Given the description of an element on the screen output the (x, y) to click on. 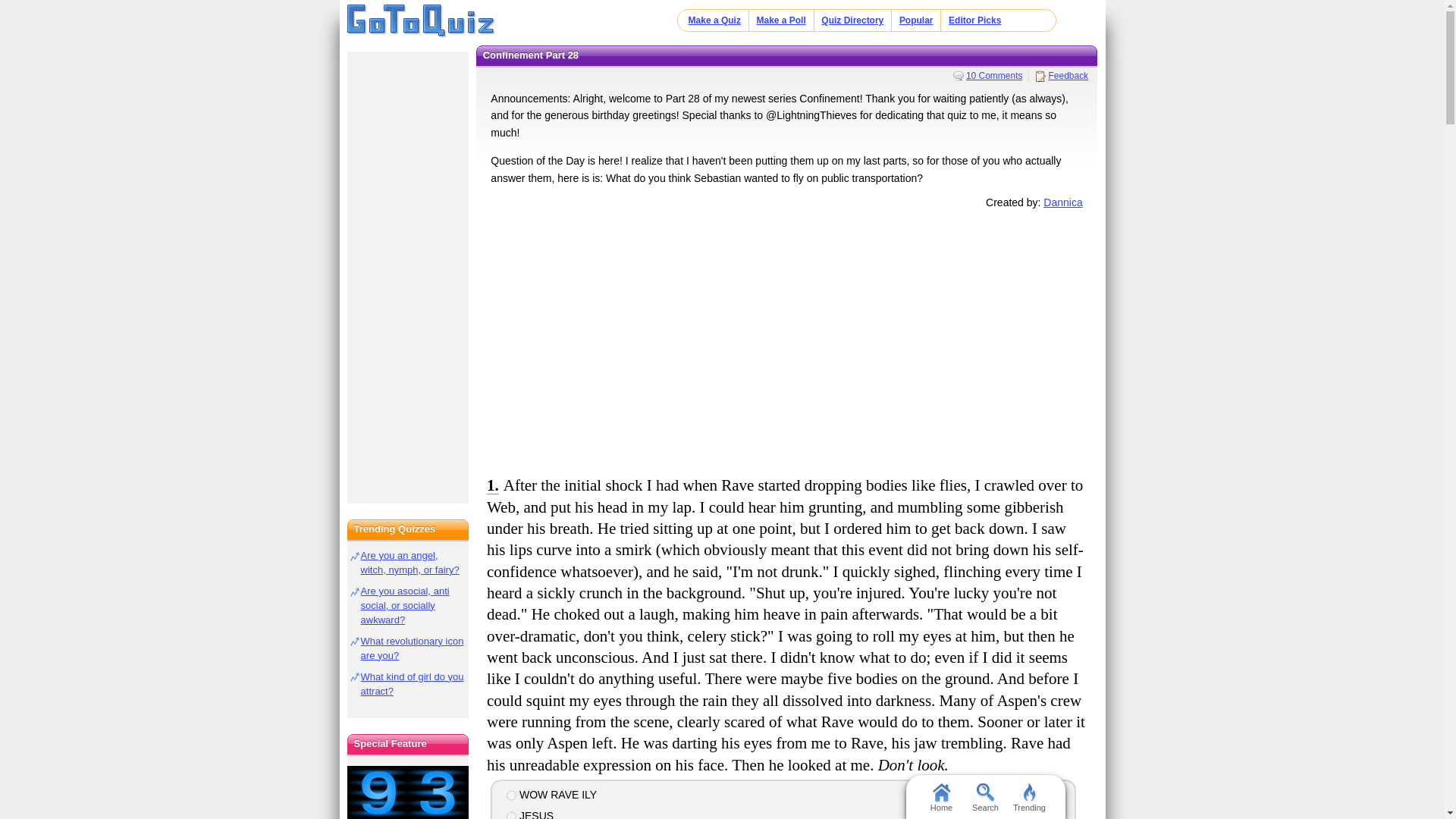
Quiz Directory (852, 20)
Popular (916, 20)
Make a Poll (780, 20)
Editor Picks (975, 20)
Make a Quiz (714, 20)
Are you an angel, witch, nymph, or fairy? (410, 562)
What revolutionary icon are you? (412, 647)
10 Comments (988, 75)
1 (511, 795)
What kind of girl do you attract? (412, 683)
Feedback (1061, 75)
Are you asocial, anti social, or socially awkward? (405, 605)
Trending (1029, 796)
Dannica (1062, 202)
Try our lifespan calculator (407, 792)
